Given the description of an element on the screen output the (x, y) to click on. 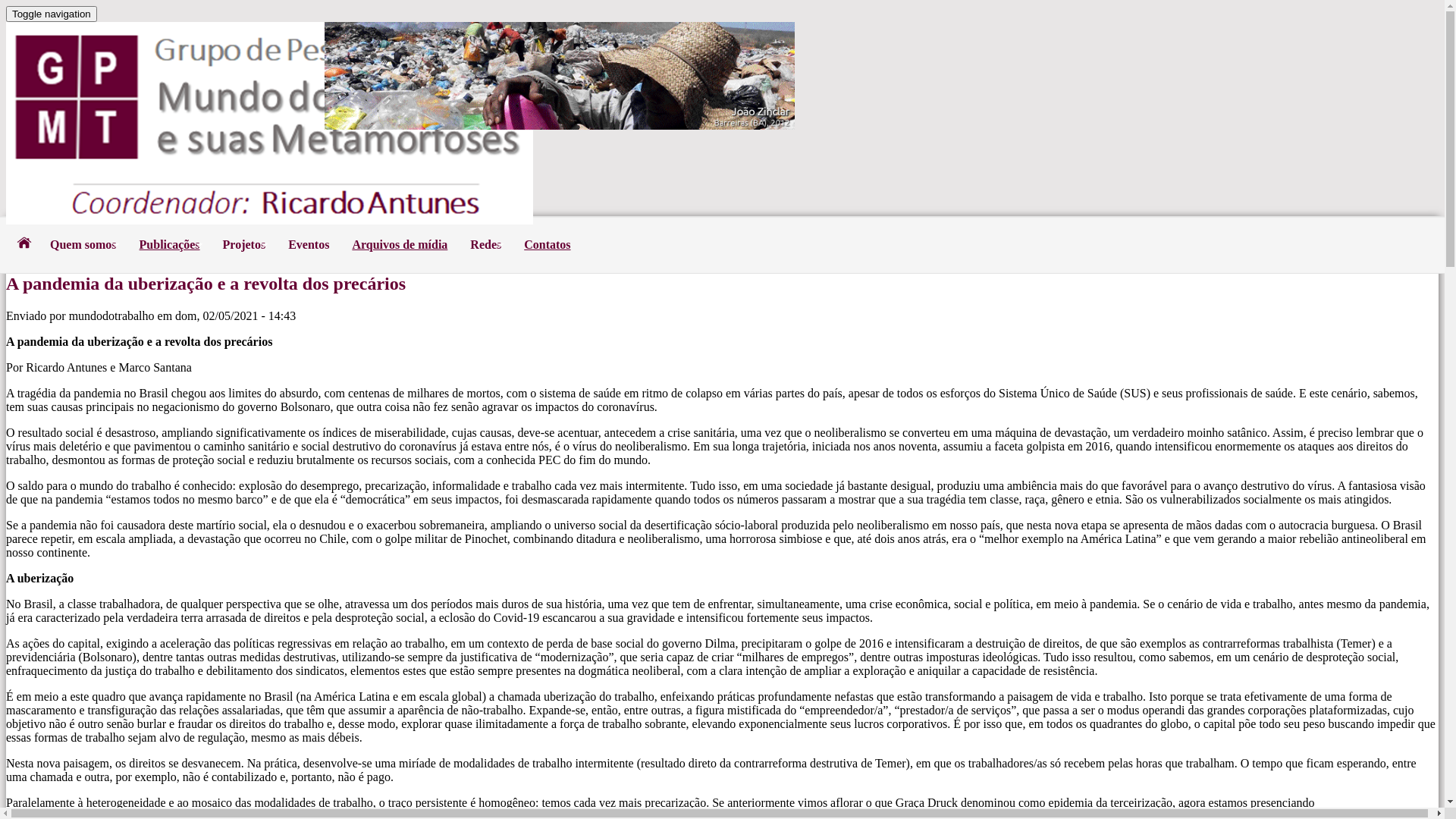
Toggle navigation Element type: text (51, 13)
Contatos Element type: text (546, 244)
Eventos Element type: text (308, 244)
